Given the description of an element on the screen output the (x, y) to click on. 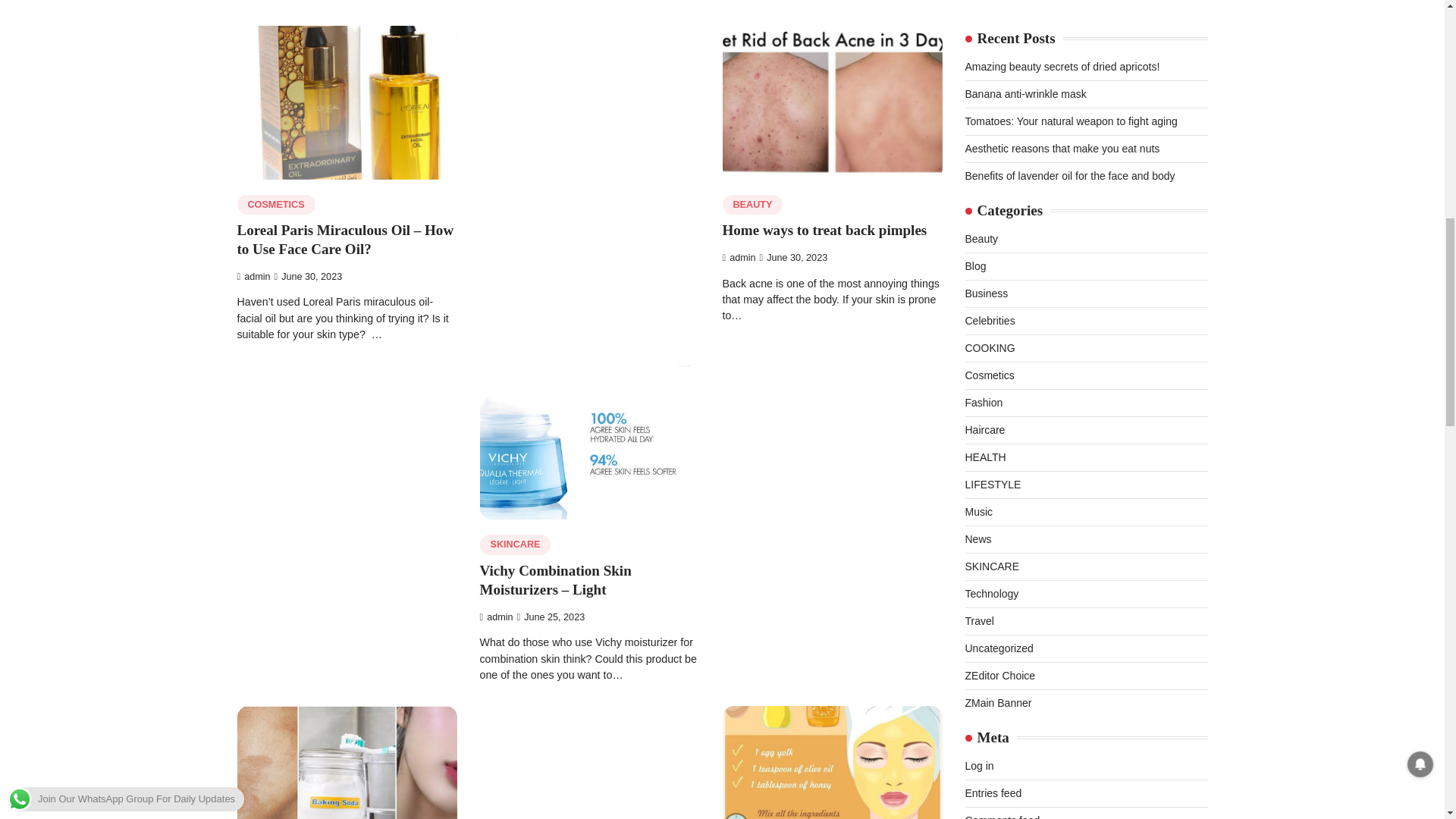
admin (252, 276)
BEAUTY (752, 204)
June 25, 2023 (550, 616)
admin (738, 257)
admin (495, 616)
June 30, 2023 (794, 257)
June 30, 2023 (308, 276)
Home ways to treat back pimples (824, 229)
COSMETICS (274, 204)
SKINCARE (514, 544)
